Given the description of an element on the screen output the (x, y) to click on. 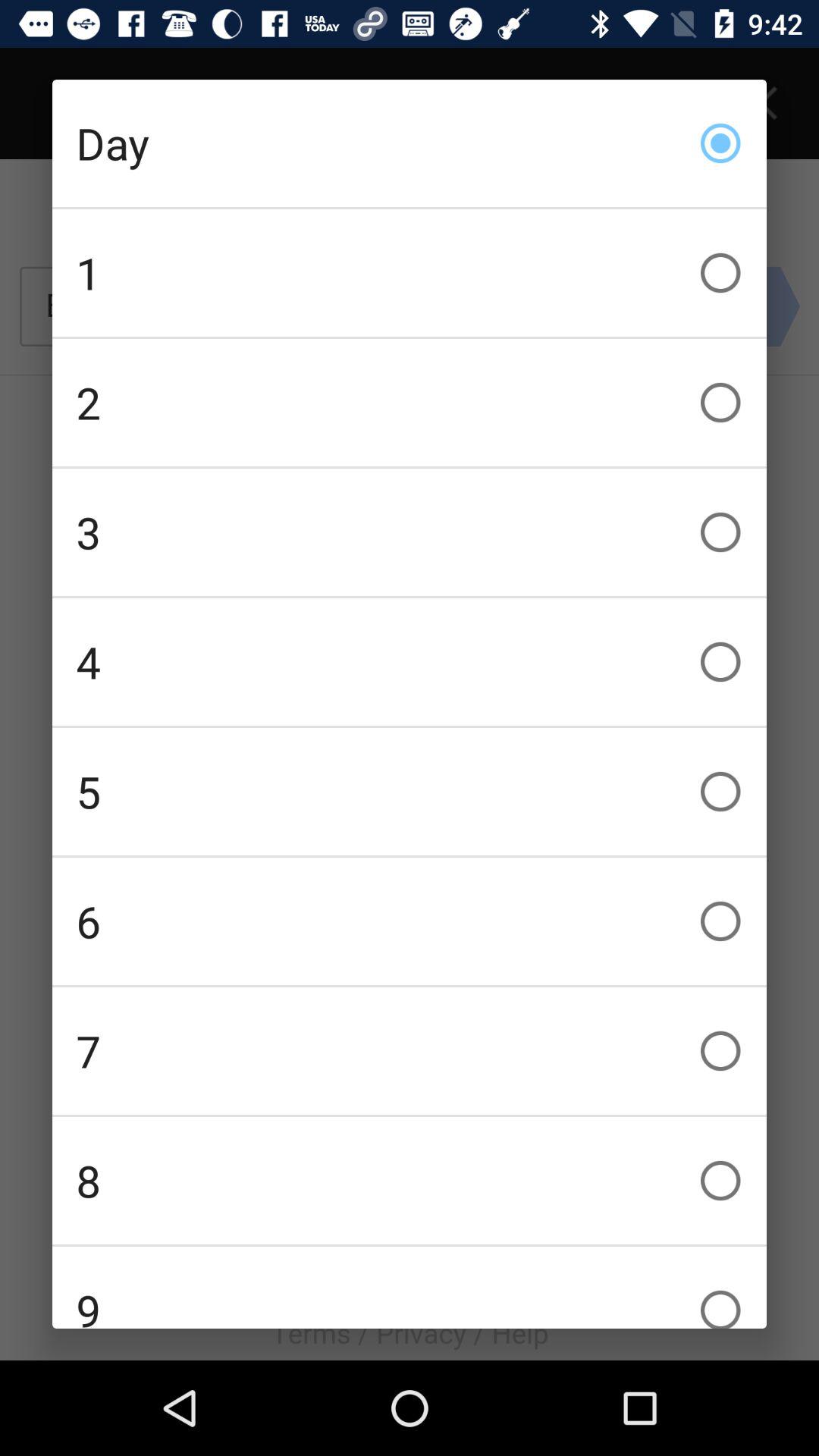
choose the 6 checkbox (409, 921)
